Given the description of an element on the screen output the (x, y) to click on. 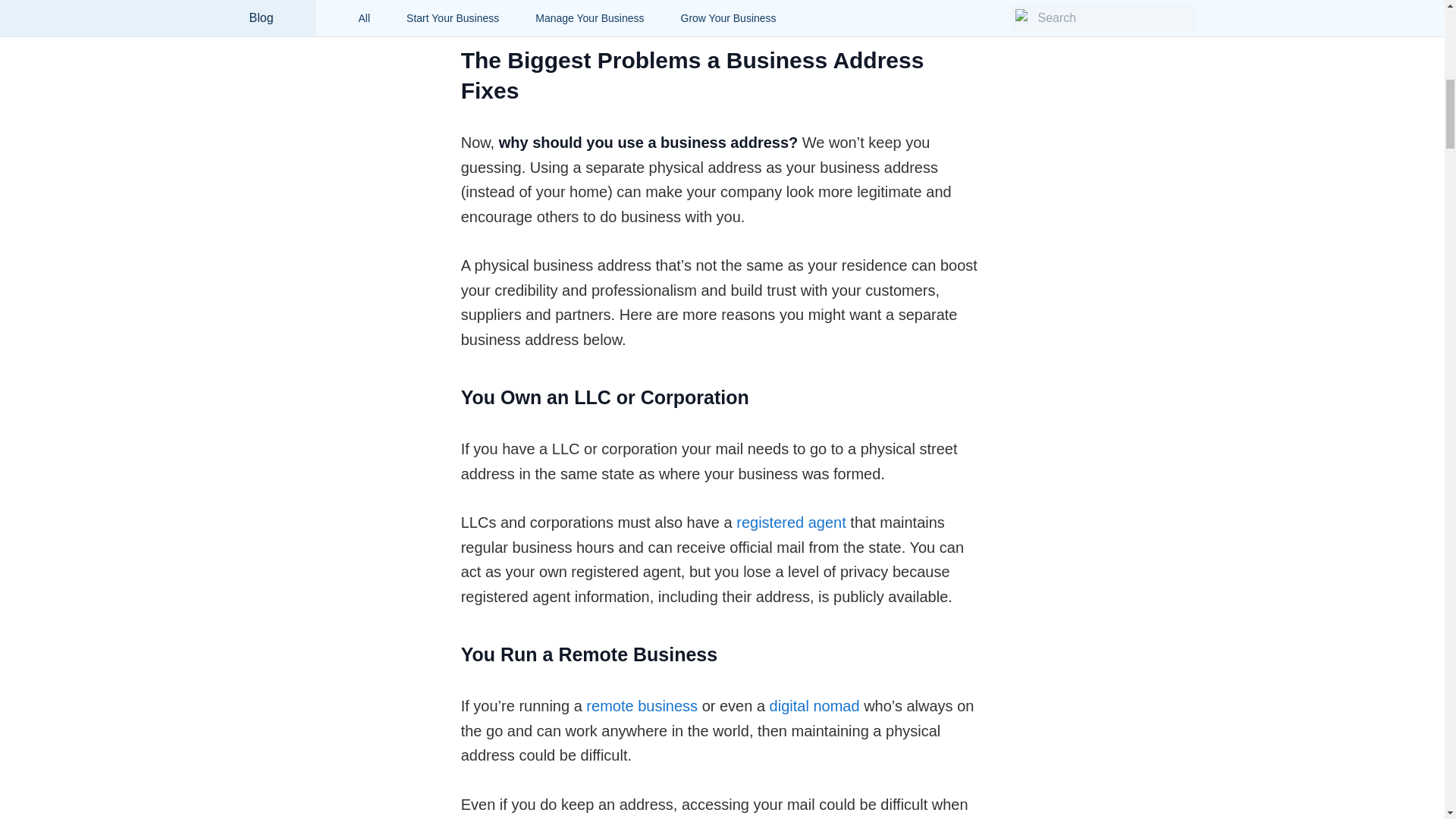
registered agent (790, 522)
digital nomad (815, 705)
remote business (641, 705)
